Given the description of an element on the screen output the (x, y) to click on. 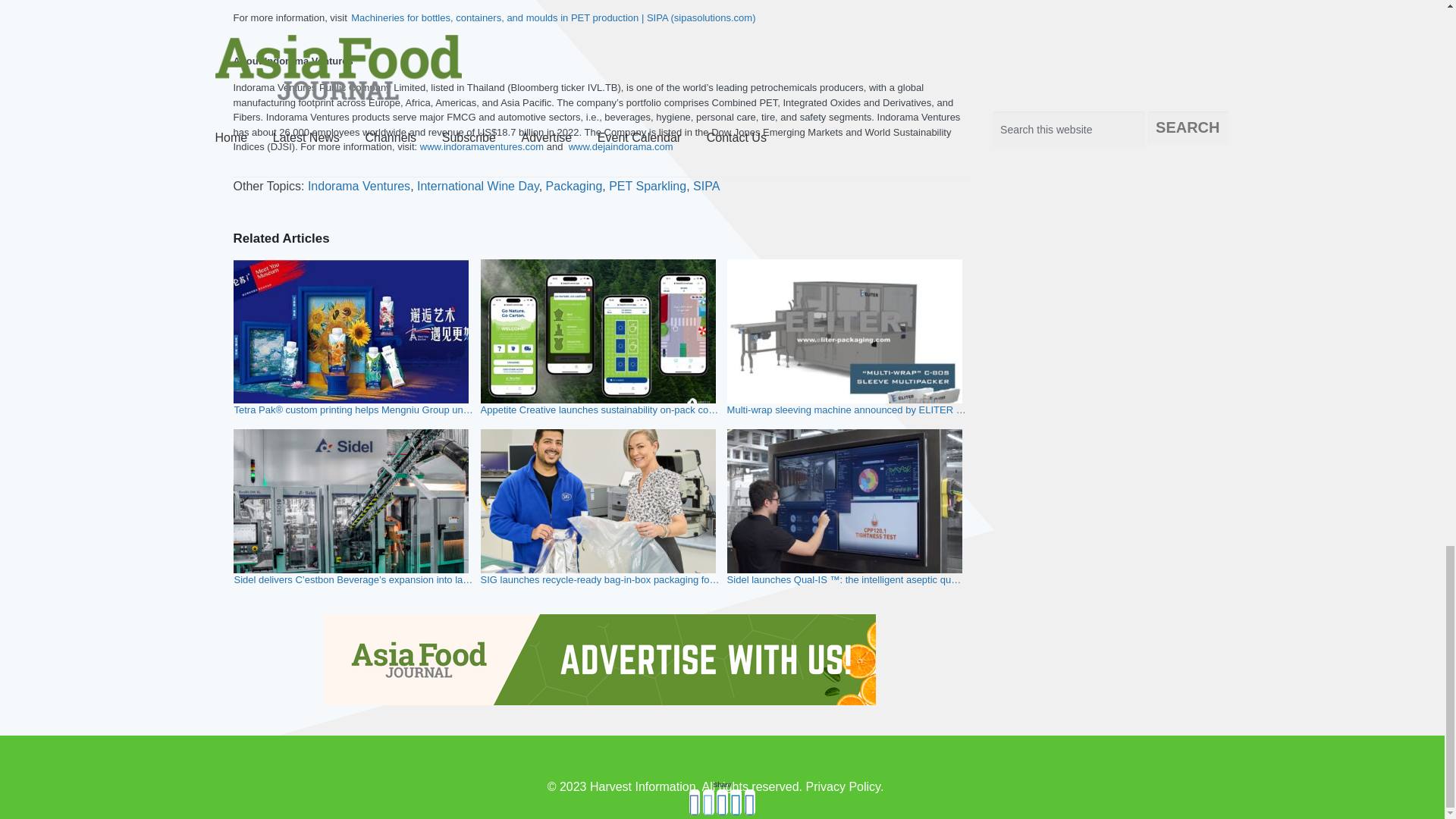
 www.dejaindorama.com (619, 146)
Indorama Ventures (358, 185)
SIPA (706, 185)
Packaging (574, 185)
www.indoramaventures.com (479, 146)
PET Sparkling (646, 185)
International Wine Day (477, 185)
